Given the description of an element on the screen output the (x, y) to click on. 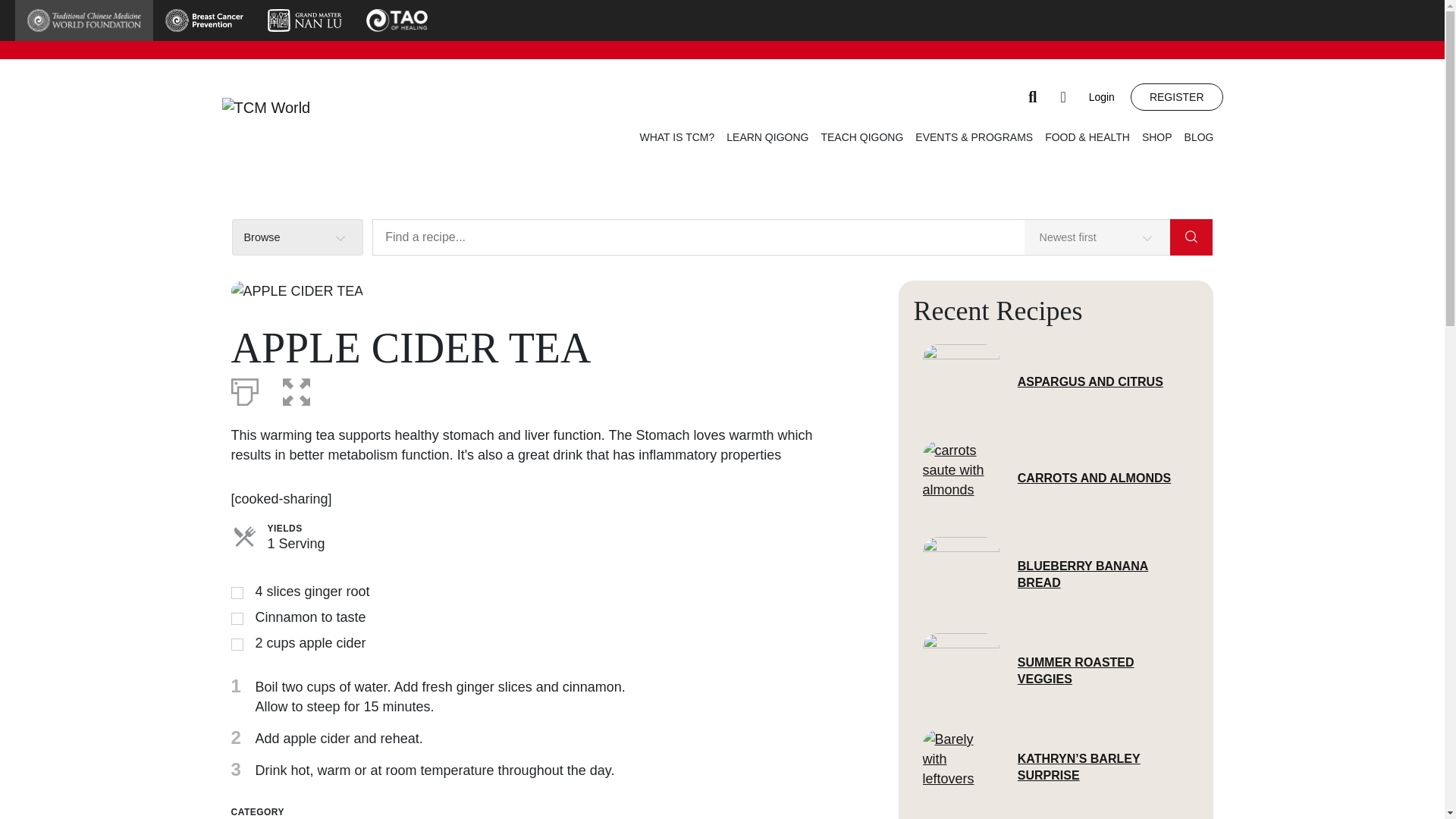
REGISTER (1177, 96)
WHAT IS TCM? (676, 136)
Login (1107, 96)
Login (1107, 96)
What Is TCM? (676, 136)
Cart (1063, 96)
LEARN QIGONG (767, 136)
Learn Qigong (767, 136)
TEACH QIGONG (861, 136)
Search (1032, 96)
